Given the description of an element on the screen output the (x, y) to click on. 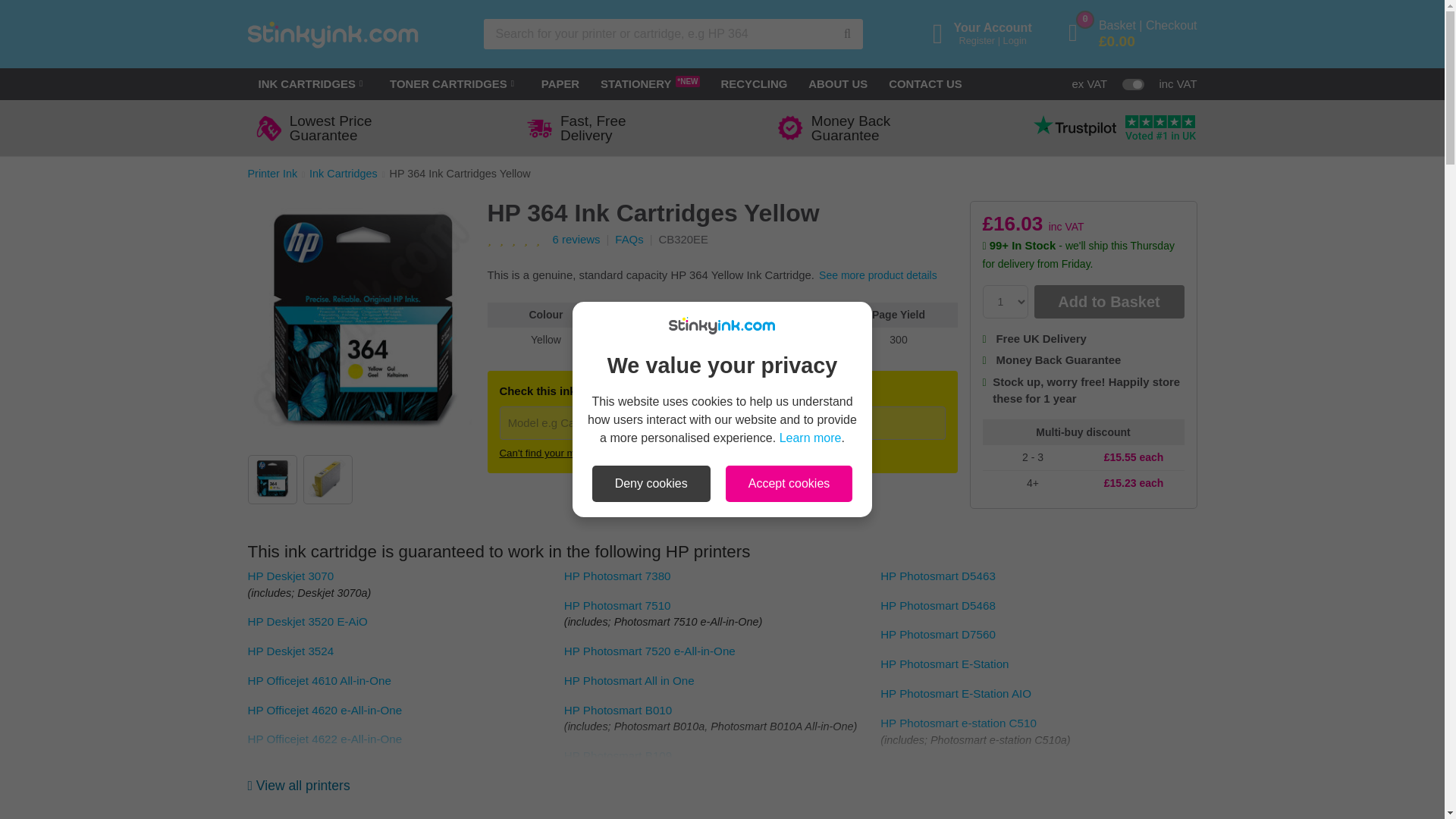
Stinkyink - Add some colour! (332, 33)
ABOUT US (837, 83)
Register (976, 40)
Checkout (1170, 24)
Search (847, 33)
RECYCLING (753, 83)
0 (1080, 33)
Your Account (593, 127)
Login (992, 27)
